Given the description of an element on the screen output the (x, y) to click on. 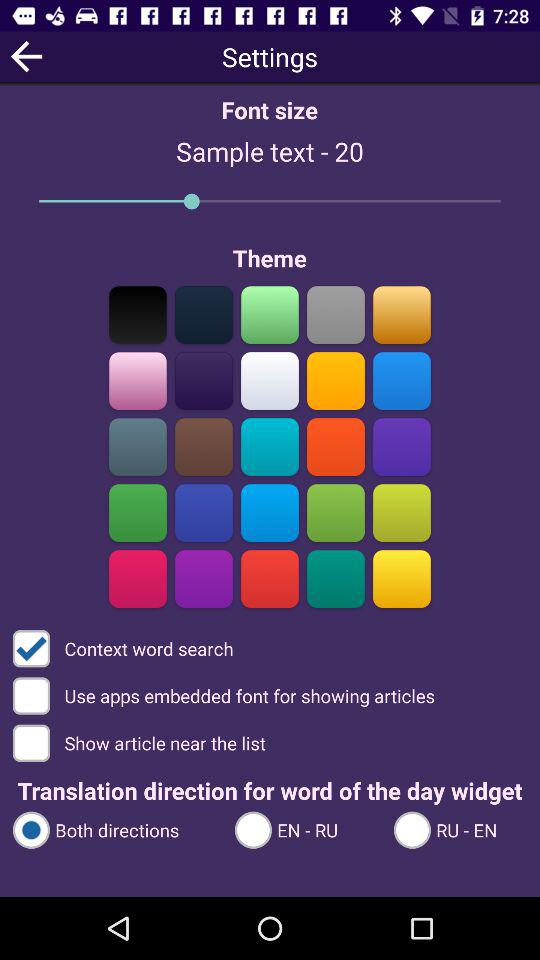
go back (26, 56)
